Given the description of an element on the screen output the (x, y) to click on. 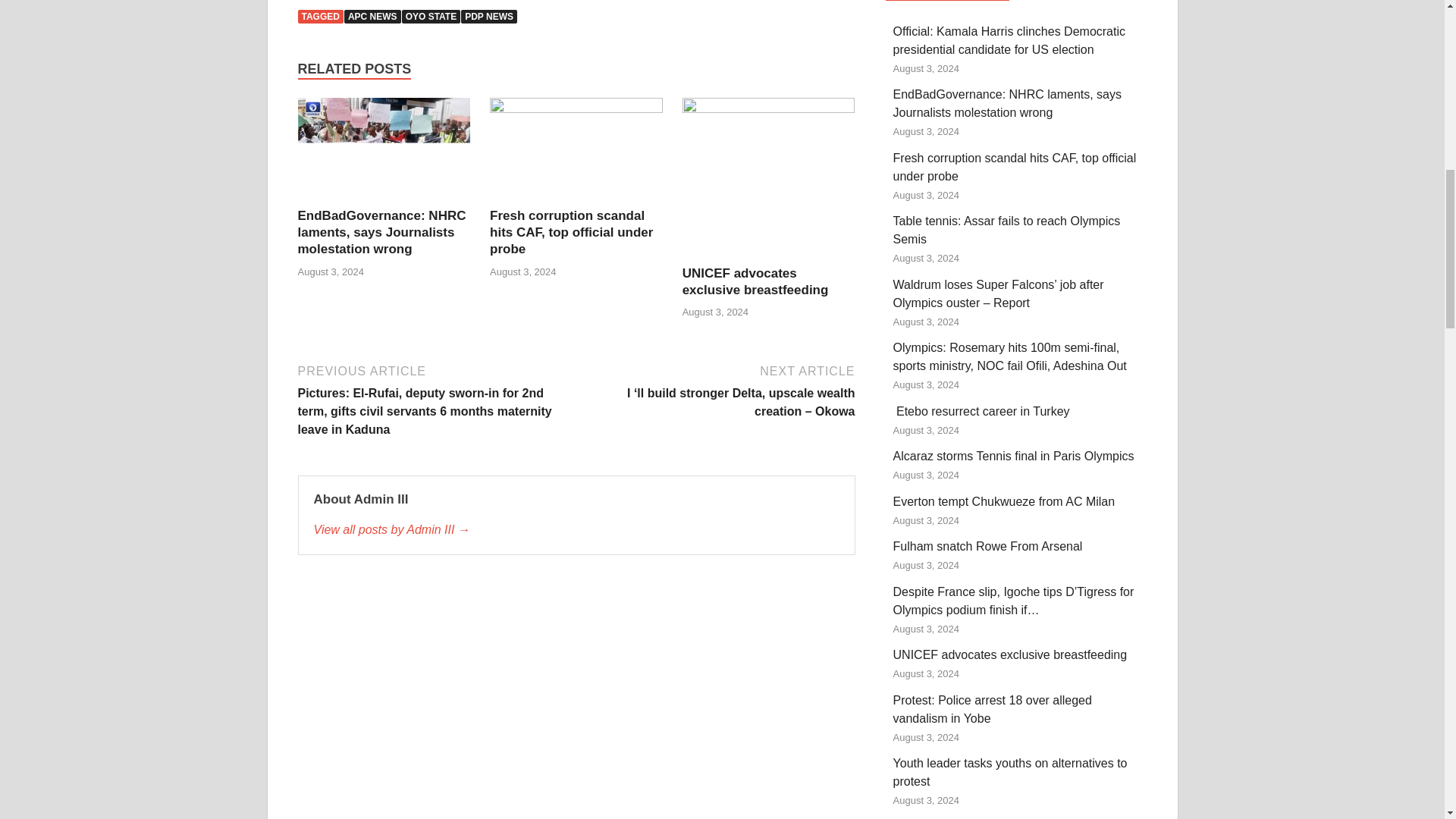
UNICEF advocates exclusive breastfeeding (769, 180)
Fresh corruption scandal hits CAF, top official under probe (575, 151)
Fresh corruption scandal hits CAF, top official under probe (570, 232)
UNICEF advocates exclusive breastfeeding (755, 281)
Admin III (577, 529)
